Given the description of an element on the screen output the (x, y) to click on. 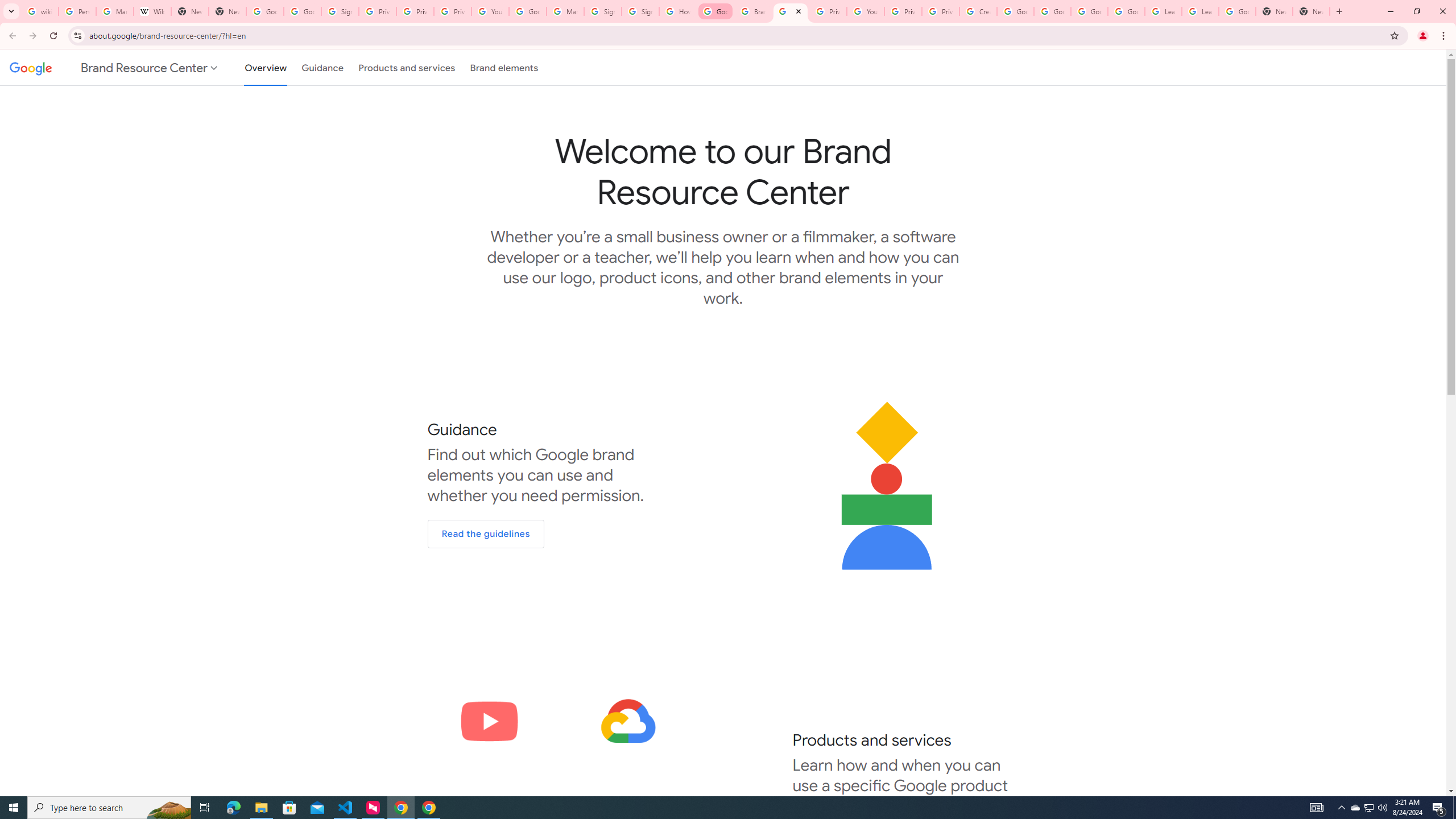
New Tab (227, 11)
Google Account Help (1052, 11)
Google Account (1237, 11)
Google Account Help (527, 11)
Sign in - Google Accounts (602, 11)
New Tab (1311, 11)
